Given the description of an element on the screen output the (x, y) to click on. 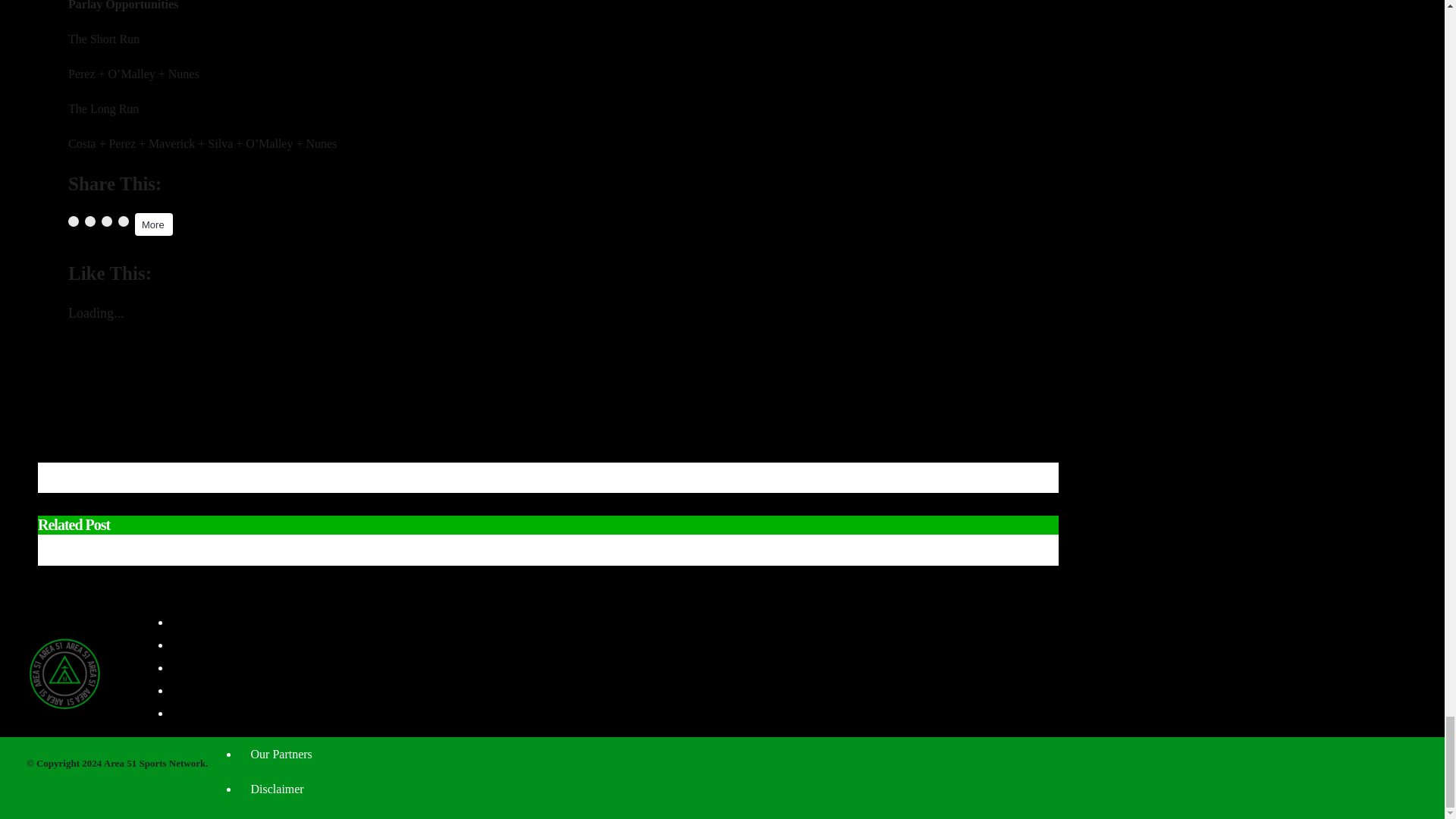
Click to share on Facebook (73, 221)
Click to share on Threads (123, 221)
More (154, 223)
Click to share on LinkedIn (106, 221)
Click to share on X (90, 221)
Post Card Breakdown: UFC 269 (158, 420)
Post Card Breakdown: UFC Vegas 44 and BFL 70 (207, 397)
